Given the description of an element on the screen output the (x, y) to click on. 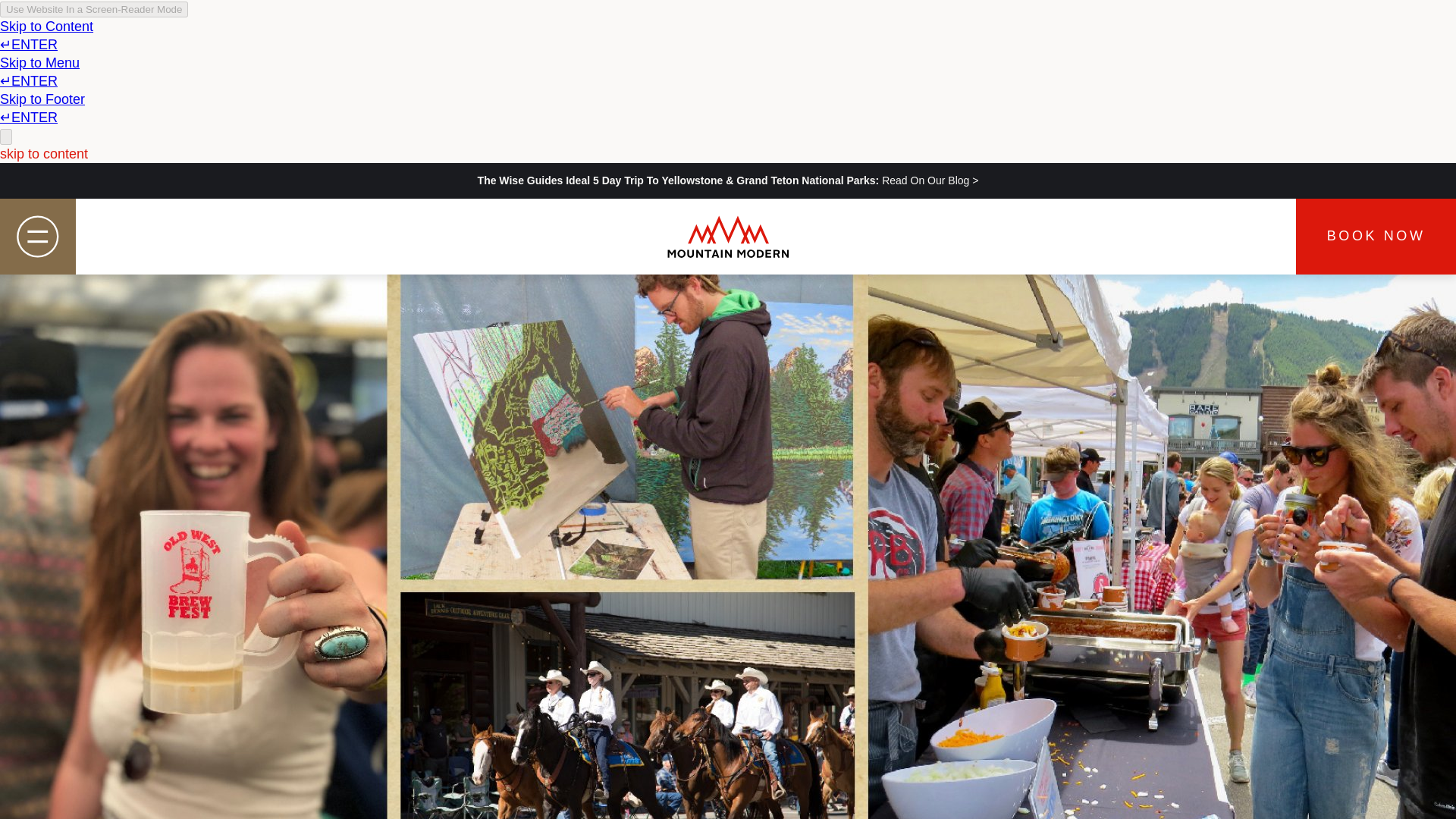
Basecamp (427, 441)
  Specials (409, 542)
  Contact (402, 643)
skip to content (43, 152)
  Groups (399, 592)
Mountain Modern (727, 236)
Destination (432, 491)
